Given the description of an element on the screen output the (x, y) to click on. 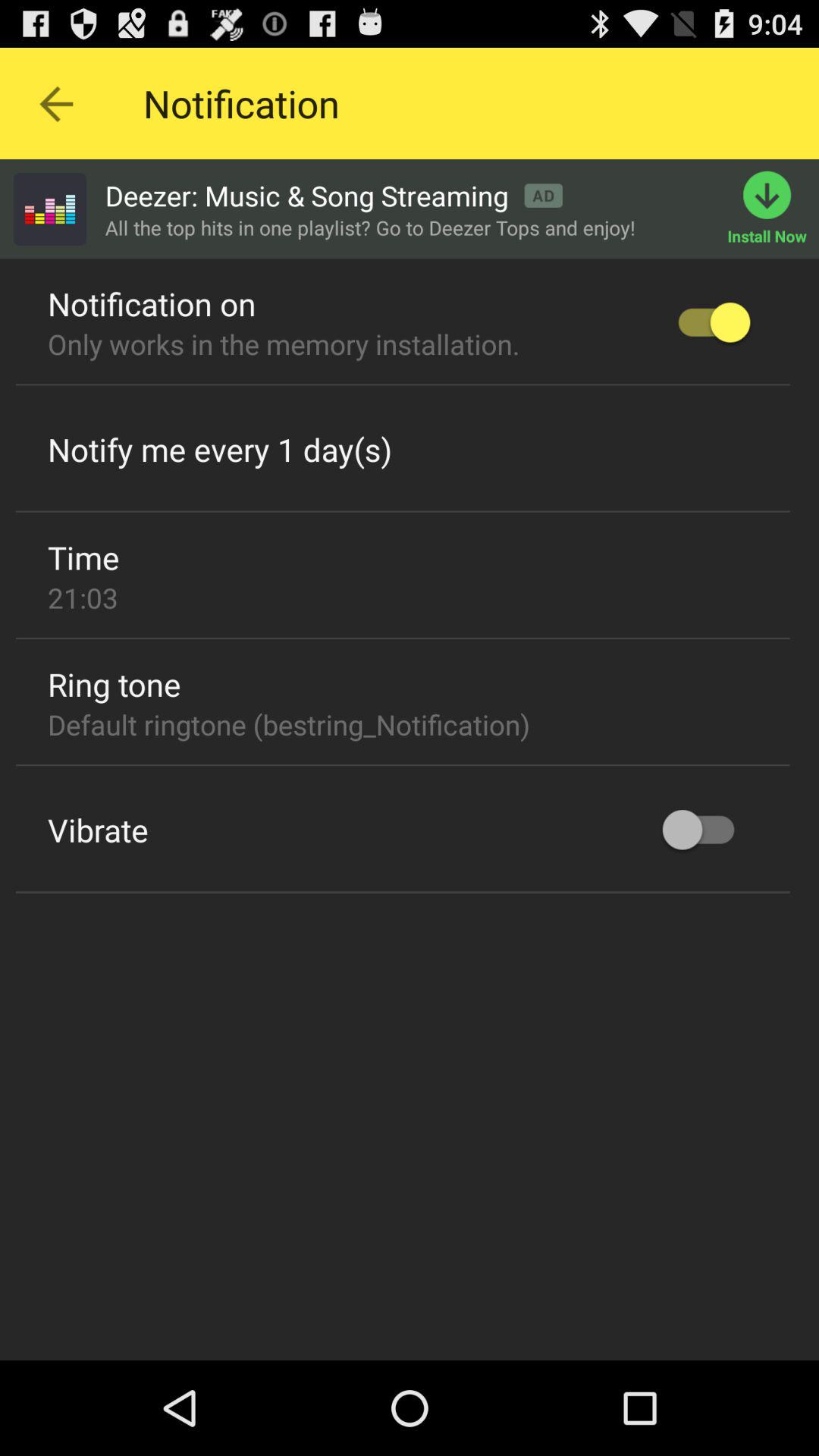
turn off item above the notify me every item (402, 384)
